Given the description of an element on the screen output the (x, y) to click on. 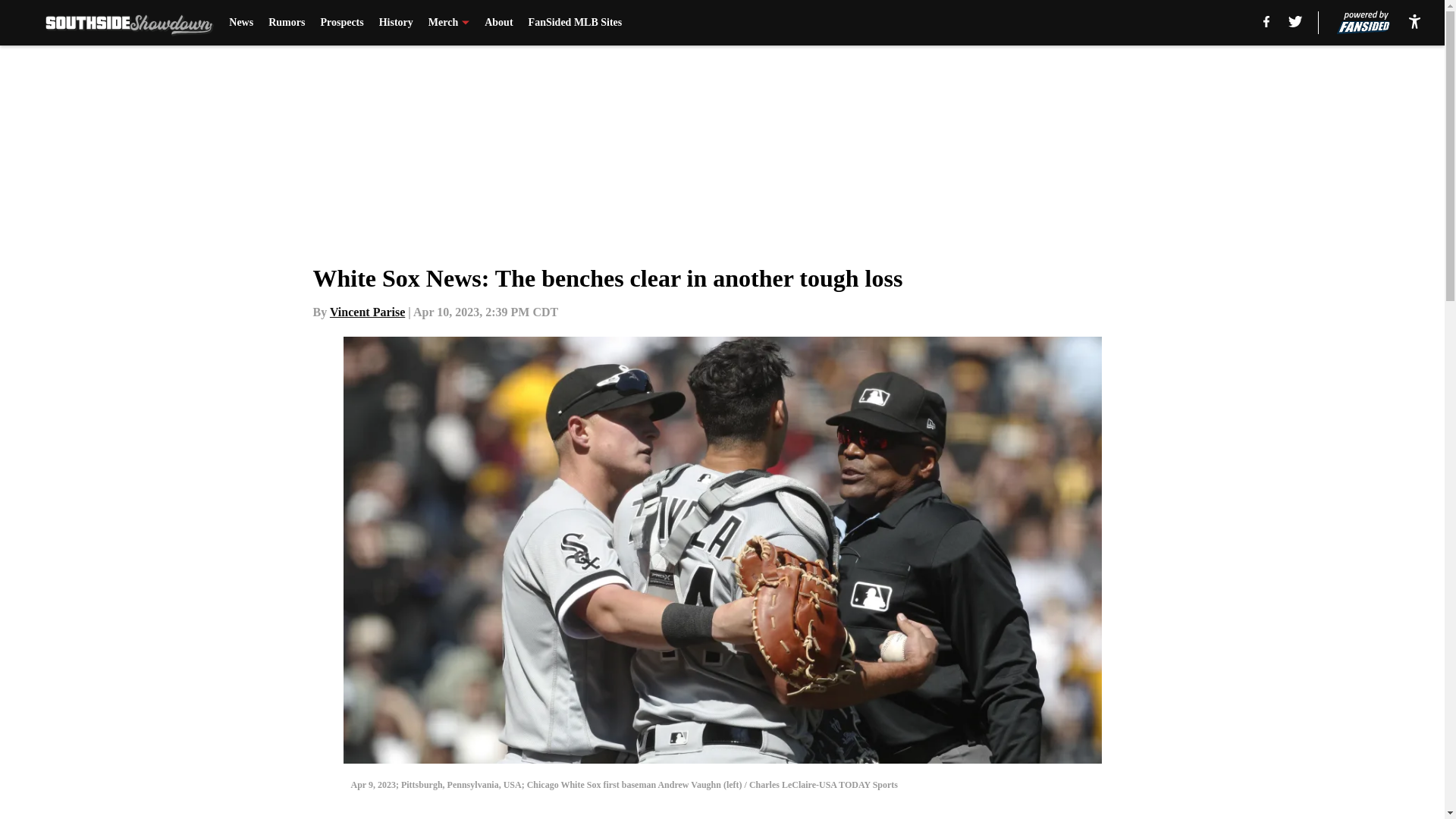
FanSided MLB Sites (575, 22)
Prospects (341, 22)
Rumors (285, 22)
About (498, 22)
History (395, 22)
News (240, 22)
Vincent Parise (367, 311)
